Given the description of an element on the screen output the (x, y) to click on. 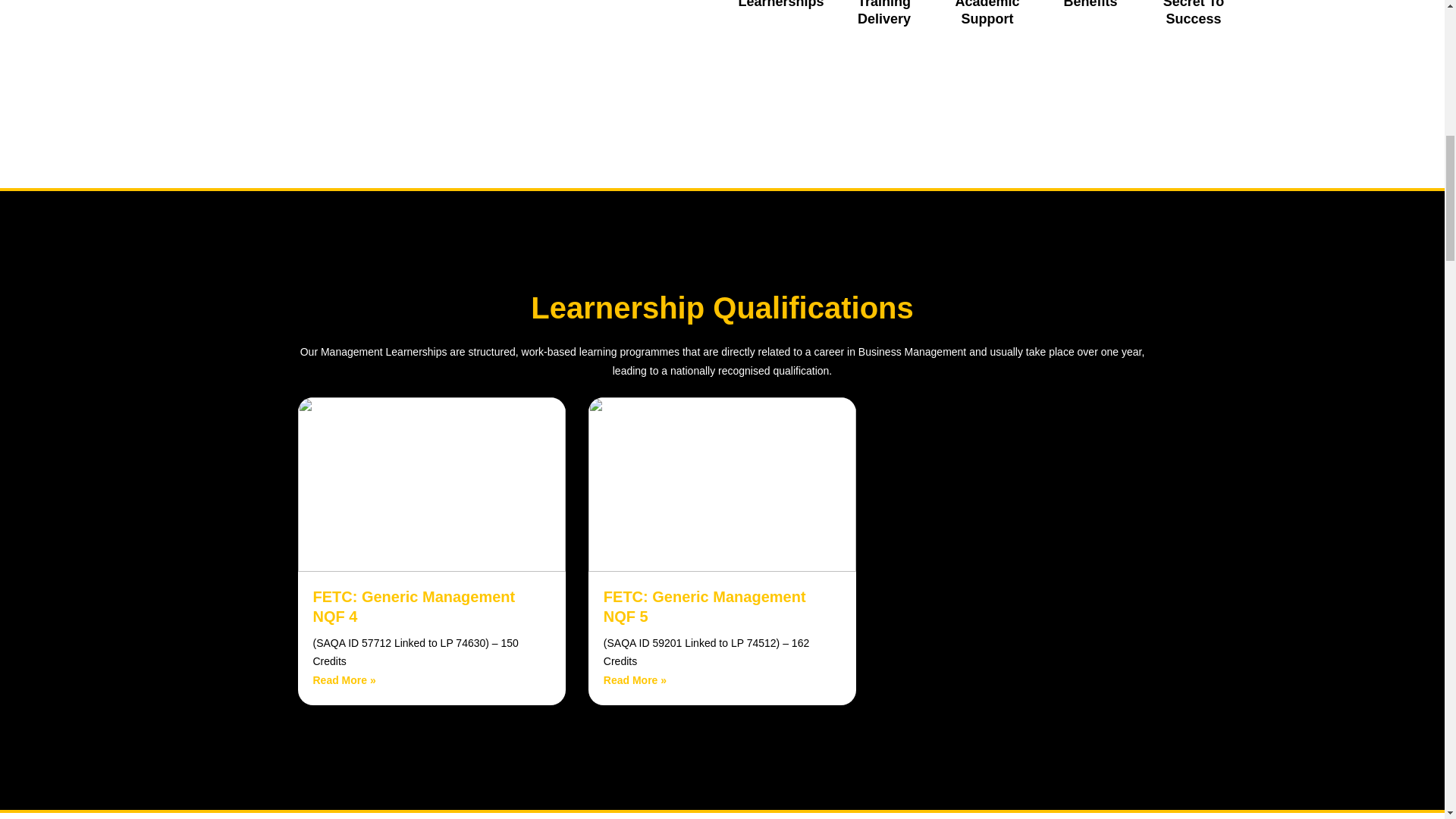
FETC: Generic Management NQF 5 (722, 484)
FETC: Generic Management NQF 4 (344, 679)
FETC: Generic Management NQF 4 (430, 484)
FETC: Generic Management NQF 5 (635, 679)
